Given the description of an element on the screen output the (x, y) to click on. 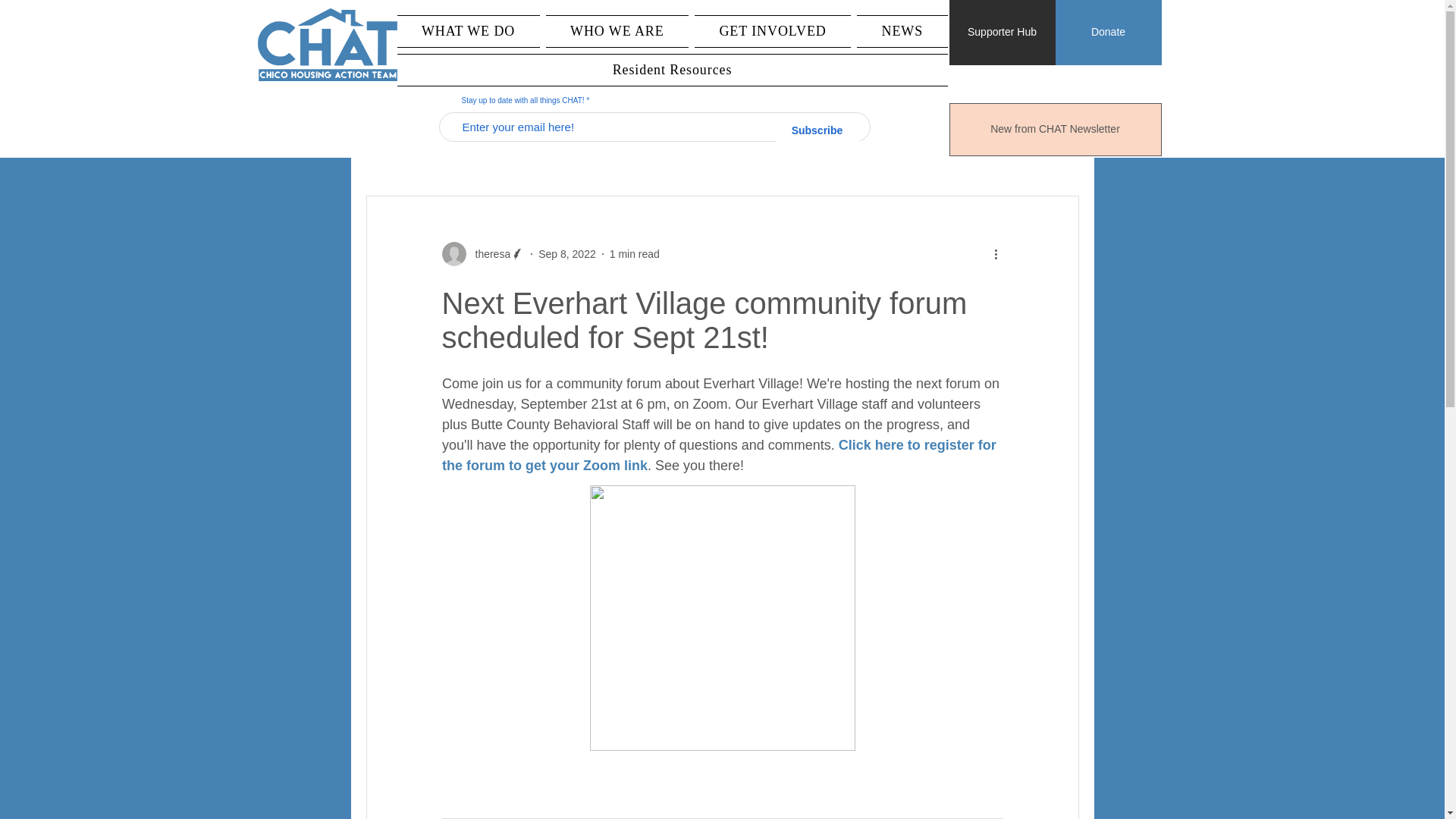
1 min read (634, 253)
Donate (1108, 32)
theresa (482, 253)
Supporter Hub (1002, 32)
New from CHAT Newsletter (1055, 129)
Subscribe (817, 130)
Click here to register for the forum to get your Zoom link (719, 455)
Sep 8, 2022 (566, 253)
theresa (488, 253)
